Given the description of an element on the screen output the (x, y) to click on. 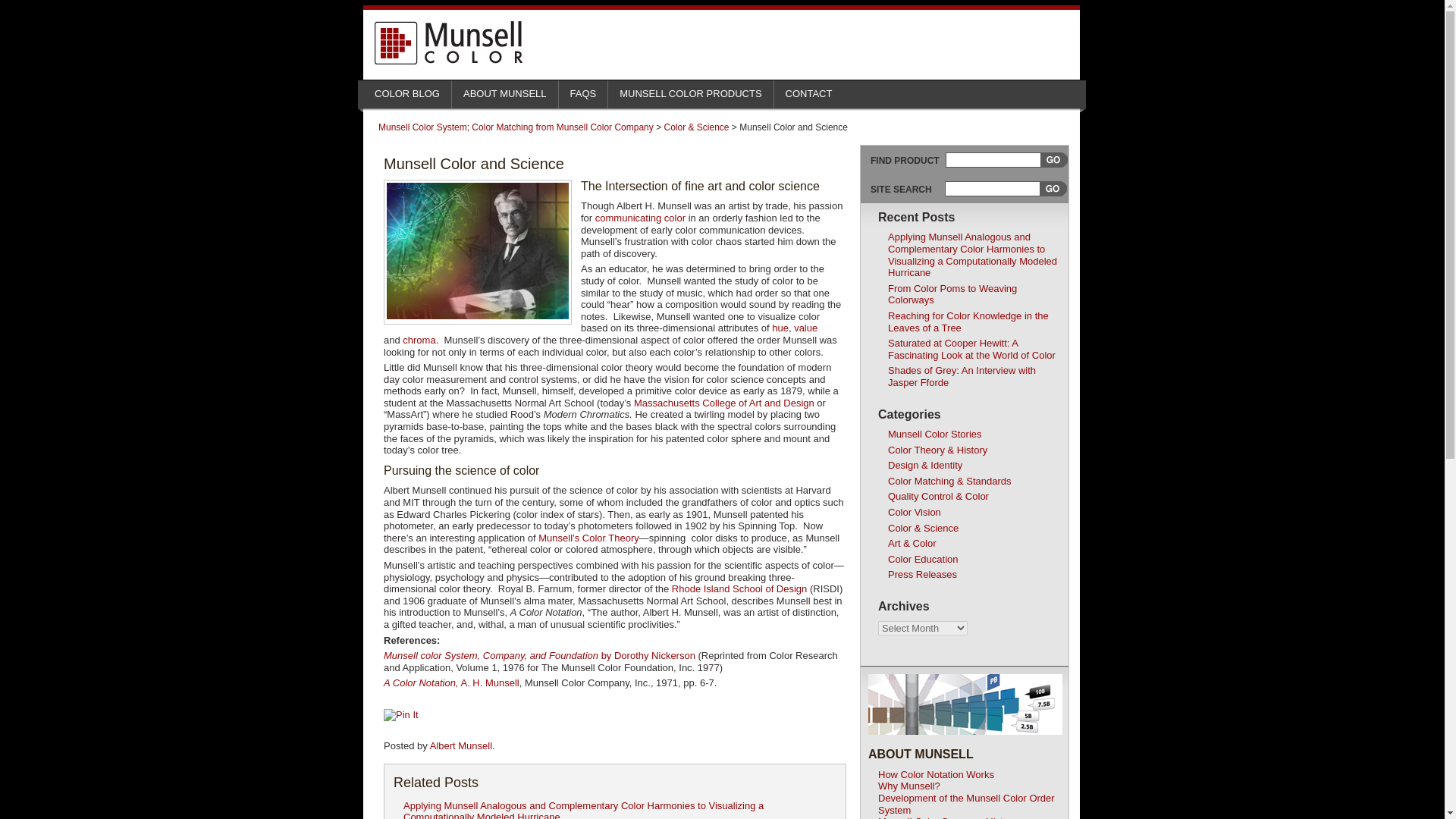
CONTACT (809, 90)
FAQS (583, 90)
From Color Poms to Weaving Colorways (952, 294)
A Color Notation, A. H. Munsell (451, 682)
communicating color (640, 217)
MUNSELL COLOR PRODUCTS (690, 90)
Pin It (401, 715)
ABOUT MUNSELL (504, 90)
COLOR BLOG (406, 90)
